Given the description of an element on the screen output the (x, y) to click on. 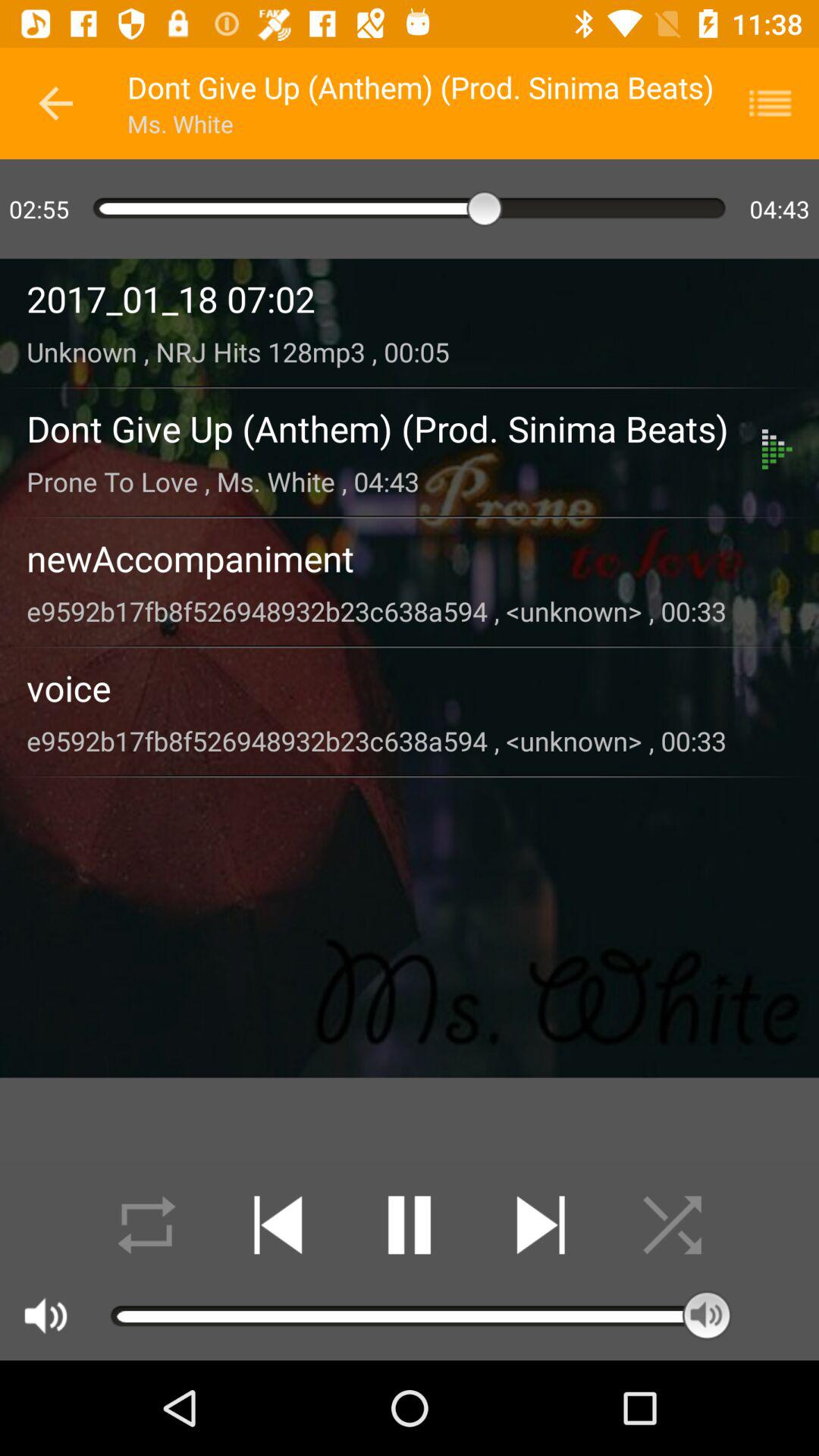
turn off item above unknown nrj hits item (409, 298)
